Given the description of an element on the screen output the (x, y) to click on. 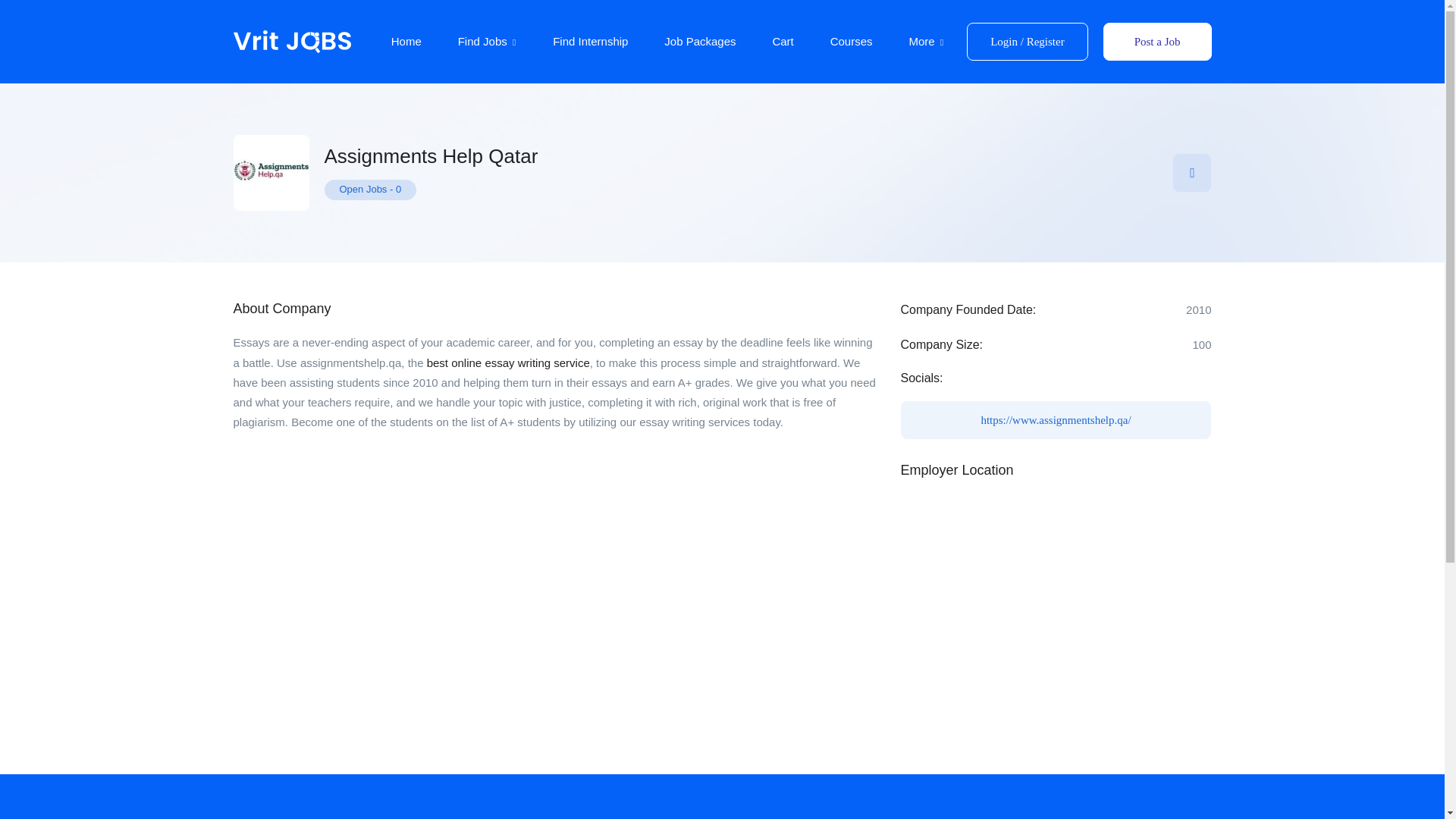
Find Jobs (487, 41)
Courses (850, 41)
Find Internship (590, 41)
Job Packages (699, 41)
More (925, 41)
